Given the description of an element on the screen output the (x, y) to click on. 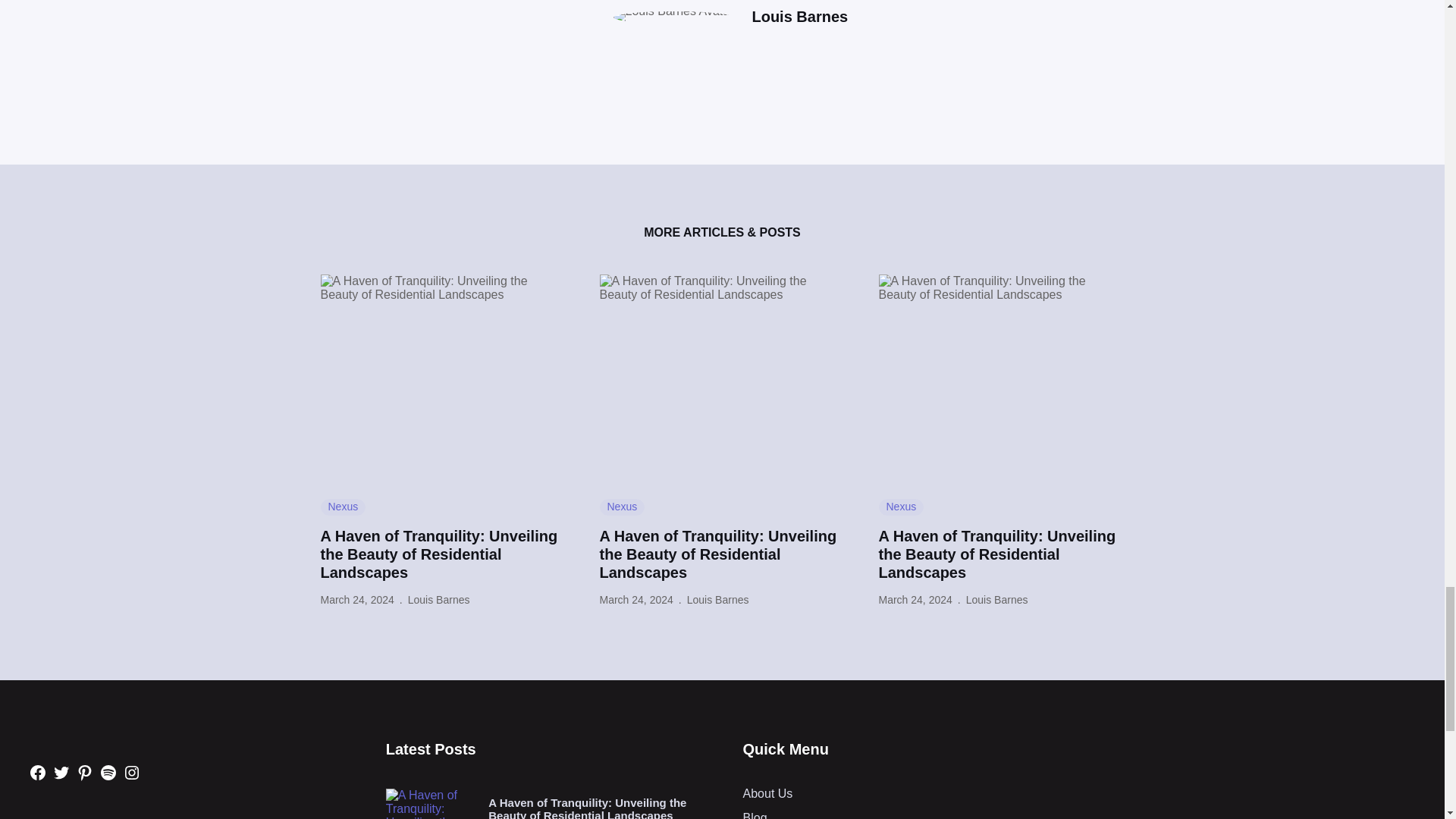
Nexus (621, 506)
Twitter (60, 772)
Nexus (342, 506)
Pinterest (84, 772)
Instagram (131, 772)
Facebook (37, 772)
Spotify (108, 772)
